Given the description of an element on the screen output the (x, y) to click on. 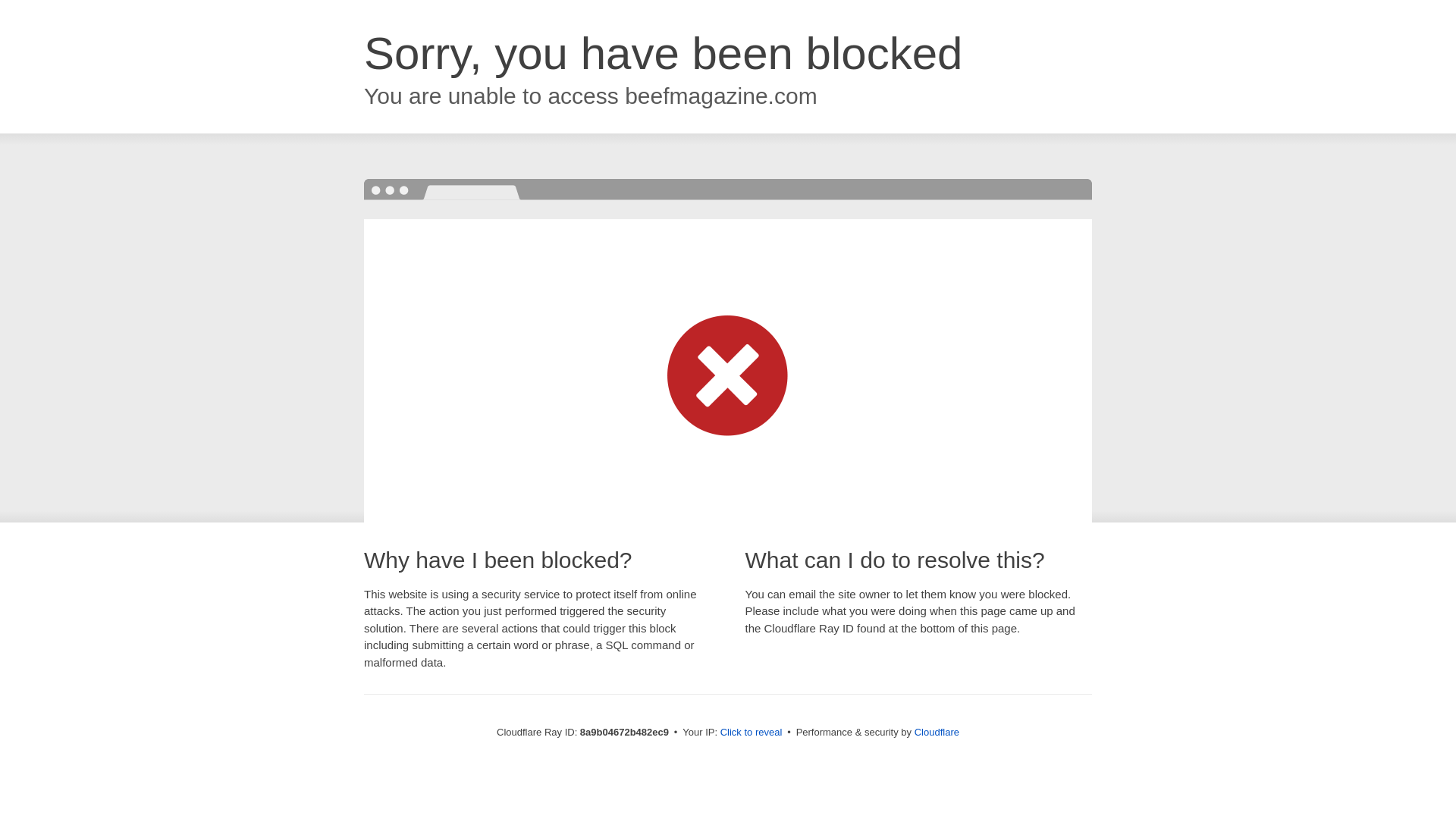
Click to reveal (751, 732)
Cloudflare (936, 731)
